Given the description of an element on the screen output the (x, y) to click on. 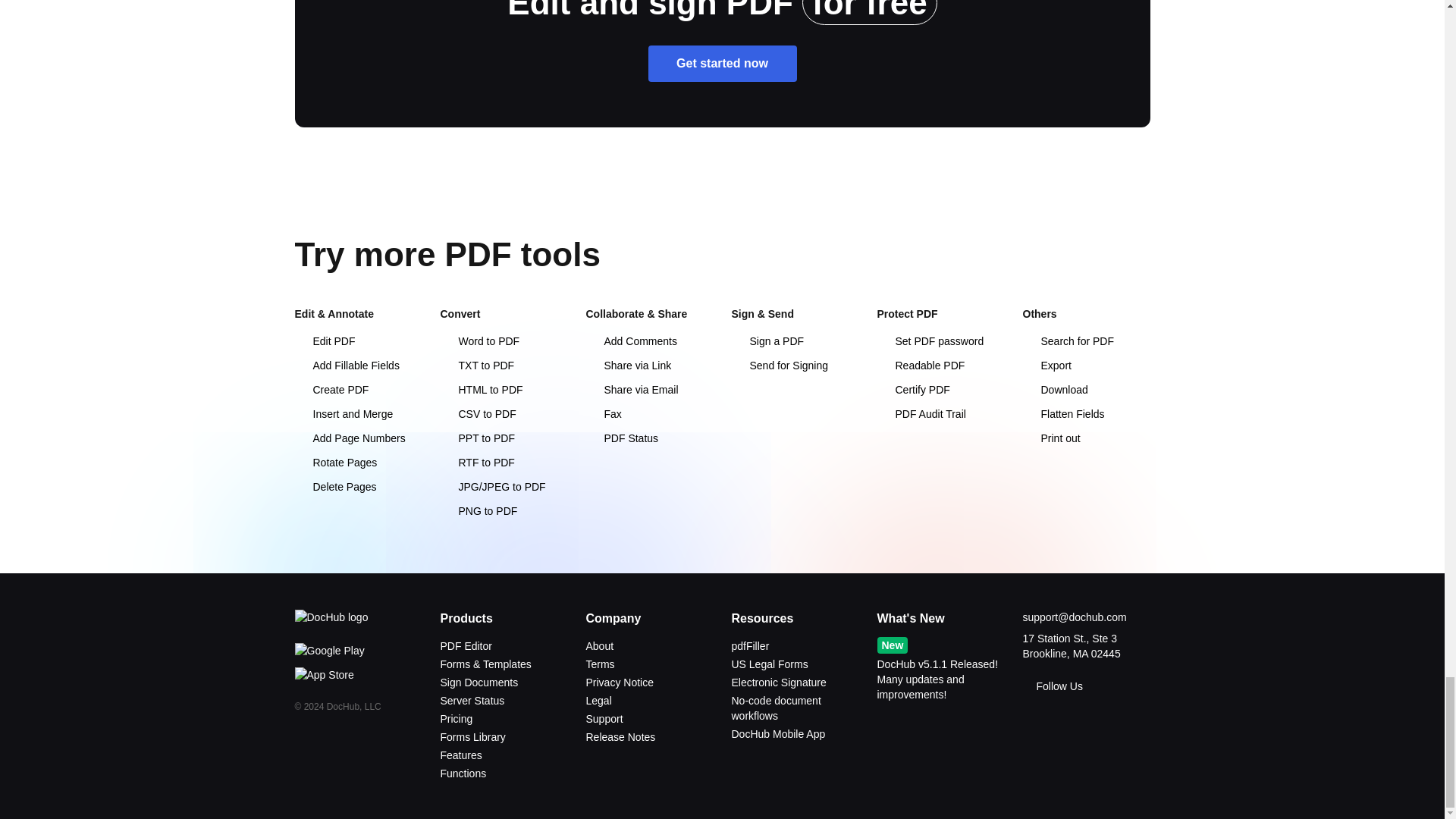
Word to PDF (479, 340)
RTF to PDF (476, 462)
PNG to PDF (477, 510)
Share via Link (628, 365)
CSV to PDF (477, 413)
PPT to PDF (476, 438)
Add Comments (631, 340)
PDF Status (621, 438)
Share via Email (631, 389)
Create PDF (331, 389)
Delete Pages (334, 486)
Add Fillable Fields (346, 365)
Get started now (721, 63)
Fax (603, 413)
TXT to PDF (476, 365)
